Given the description of an element on the screen output the (x, y) to click on. 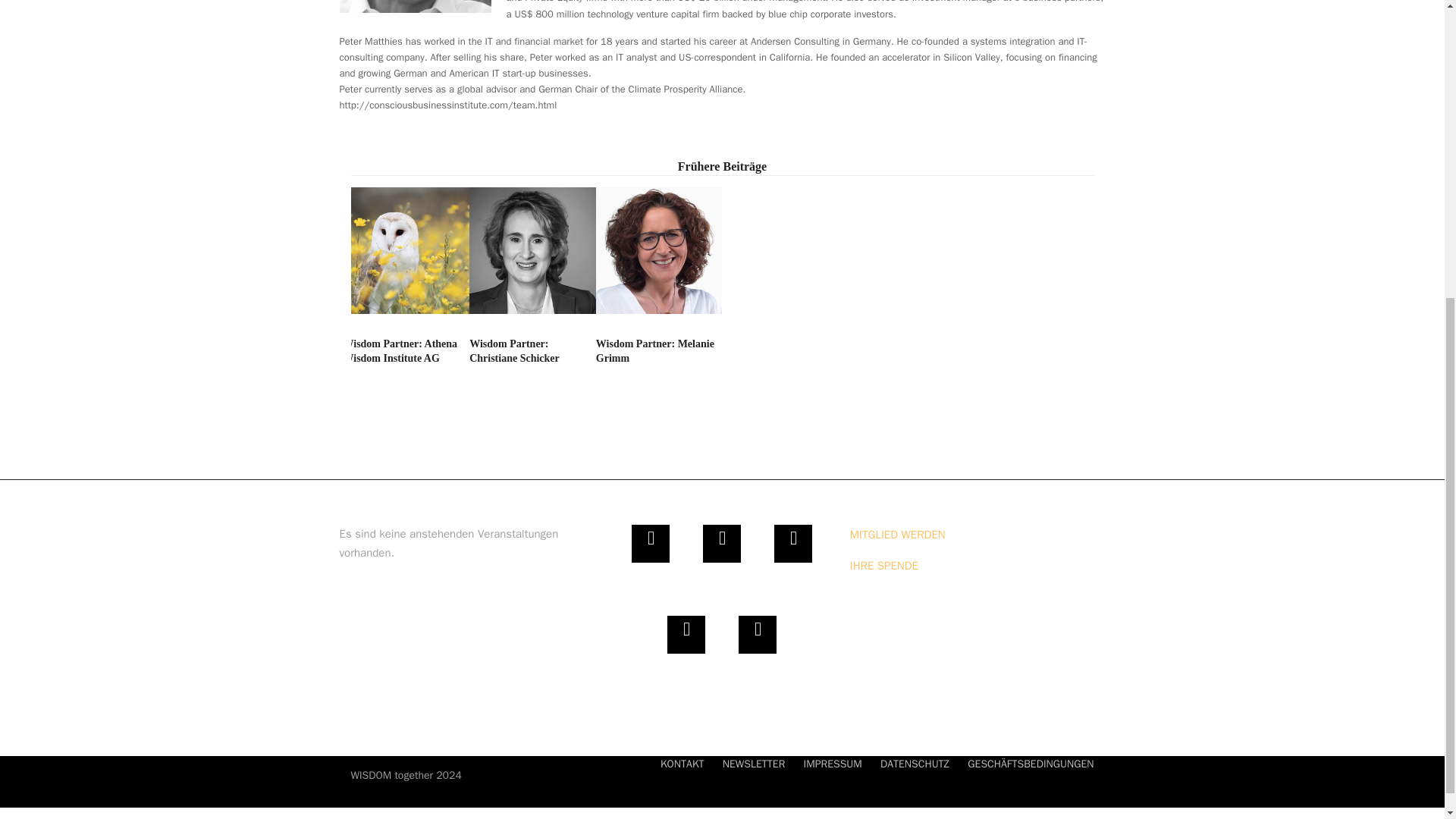
Facebook (722, 543)
Twitter (650, 543)
Wisdom Partner: Athena Wisdom Institute AG (405, 254)
Wisdom Partner: Melanie Grimm (658, 254)
Wisdom Partner: Christiane Schicker (531, 254)
YouTube (757, 634)
LinkedIn (685, 634)
Instagram (793, 543)
